Given the description of an element on the screen output the (x, y) to click on. 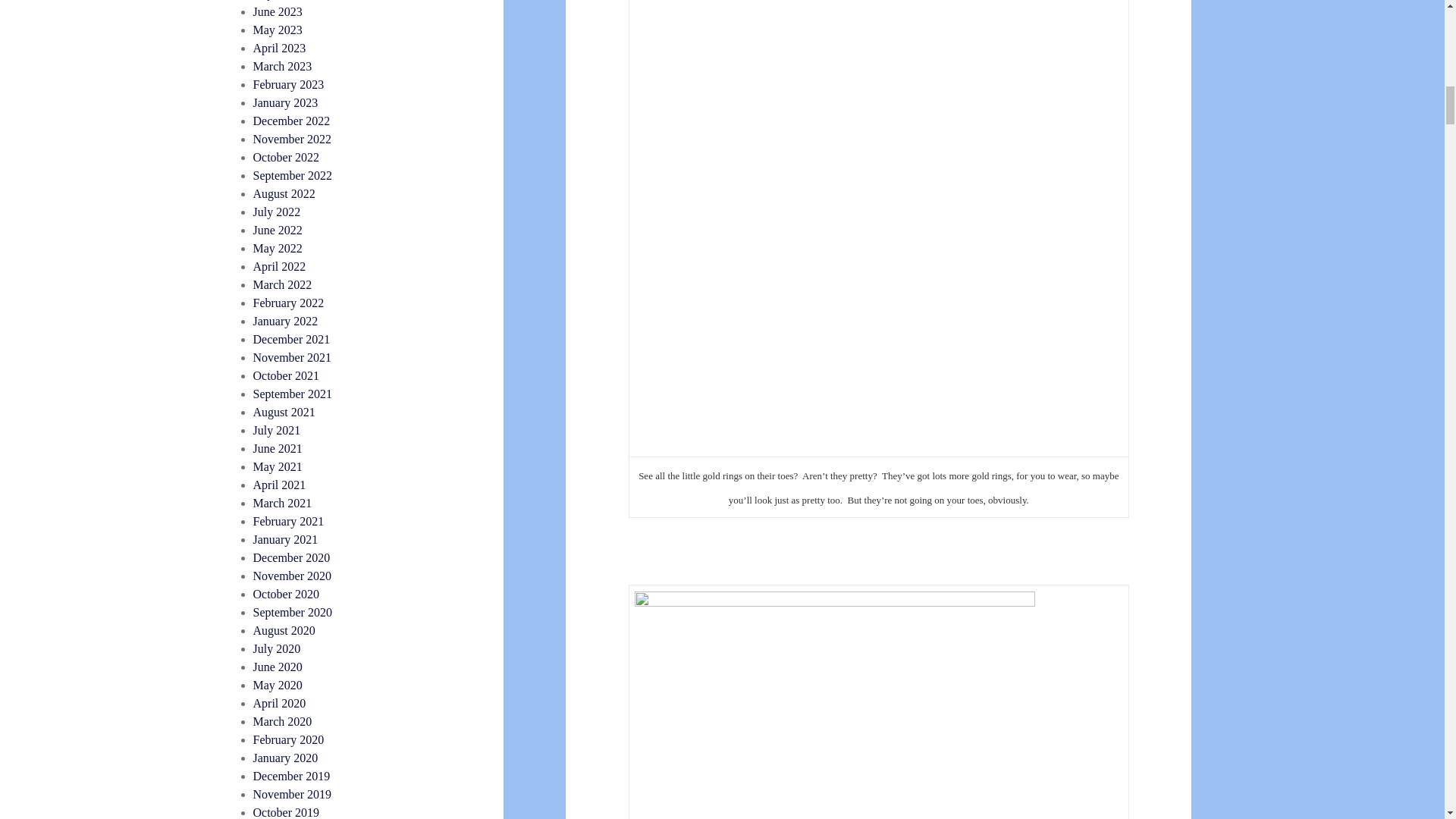
August 2022 (284, 193)
June 2023 (277, 11)
February 2023 (288, 83)
April 2022 (279, 266)
September 2022 (292, 174)
December 2022 (291, 120)
May 2023 (277, 29)
March 2022 (283, 284)
January 2023 (285, 102)
June 2022 (277, 229)
May 2022 (277, 247)
November 2022 (292, 138)
April 2023 (279, 47)
October 2022 (286, 156)
July 2022 (277, 211)
